Given the description of an element on the screen output the (x, y) to click on. 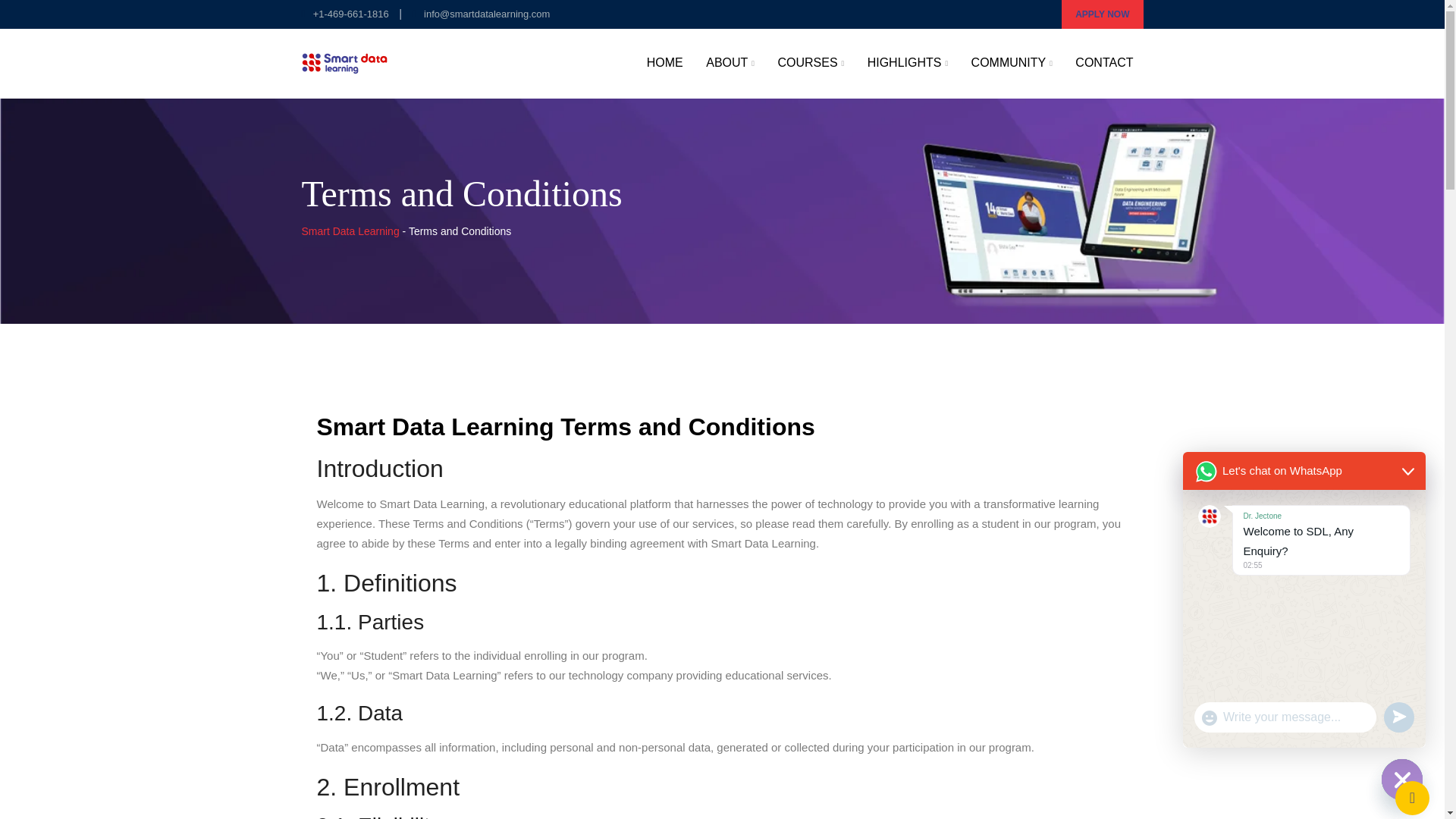
ABOUT (729, 63)
APPLY NOW (1101, 14)
CONTACT (1103, 62)
HIGHLIGHTS (907, 63)
COURSES (810, 63)
COMMUNITY (1011, 63)
Go to Smart Data Learning. (349, 231)
